Given the description of an element on the screen output the (x, y) to click on. 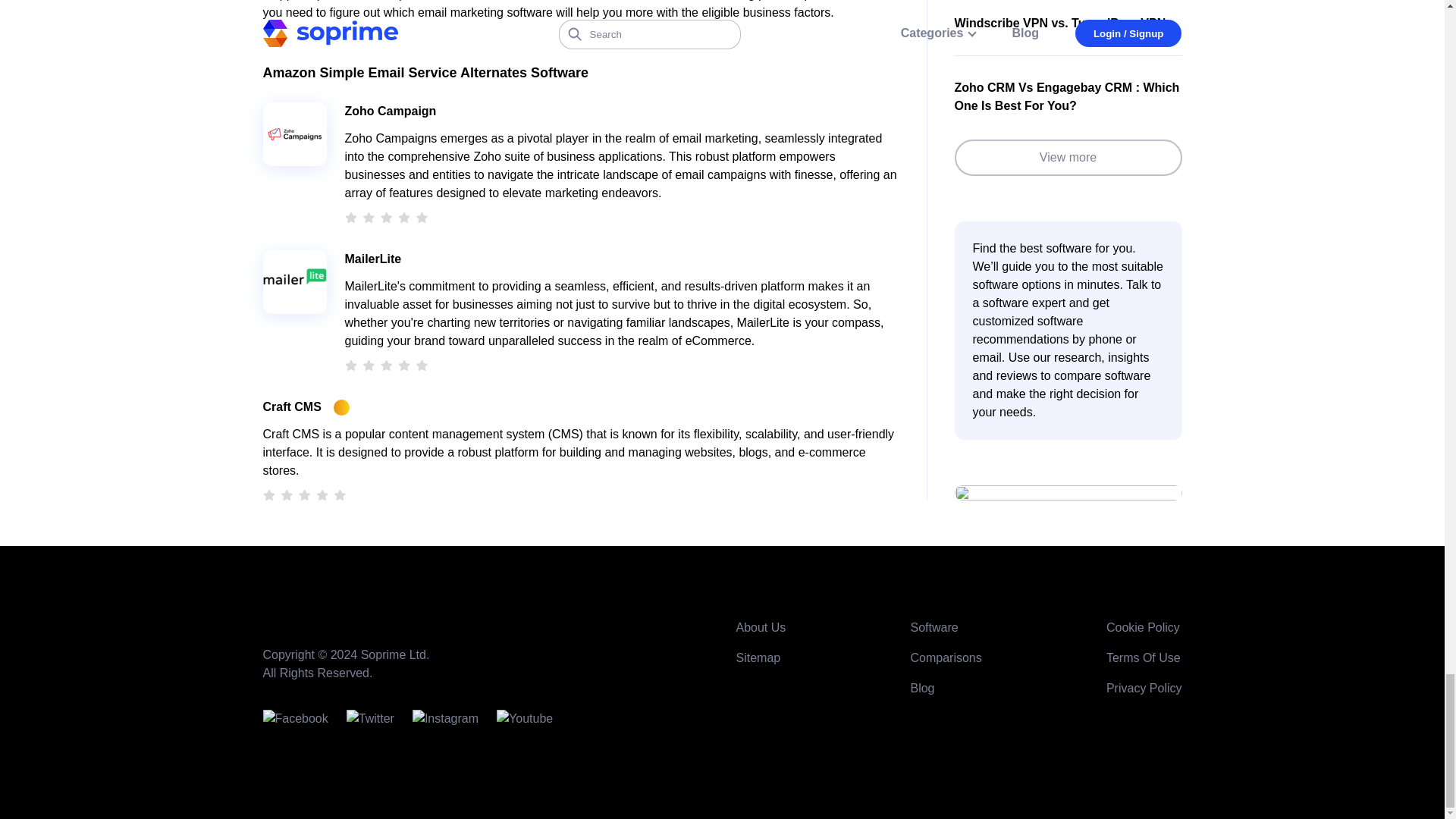
MailerLite (372, 259)
Craft CMS (291, 407)
Zoho Campaign (389, 111)
